Given the description of an element on the screen output the (x, y) to click on. 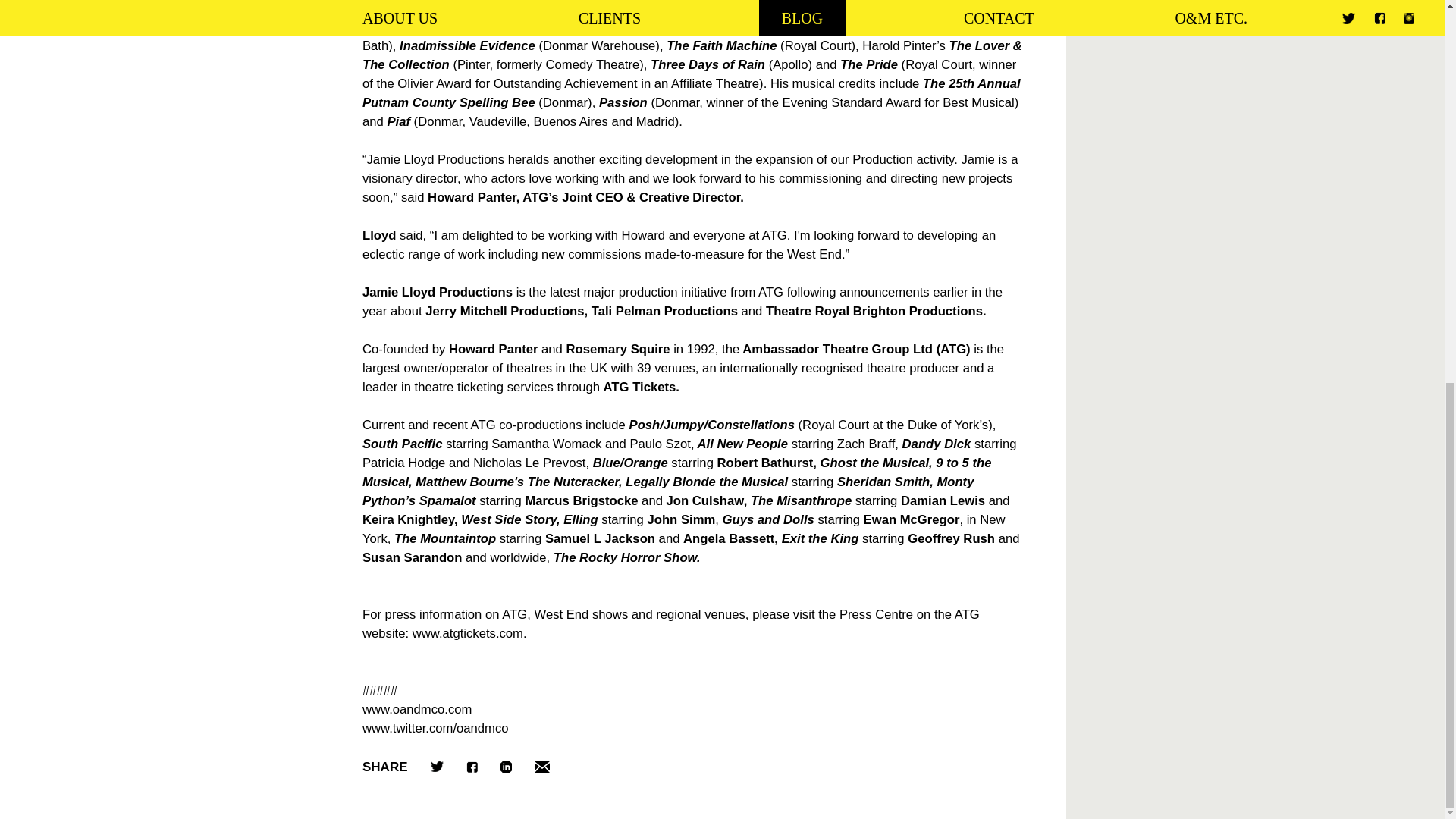
LinkedIn (506, 767)
Facebook (471, 767)
Email (542, 767)
Twitter (437, 766)
